Given the description of an element on the screen output the (x, y) to click on. 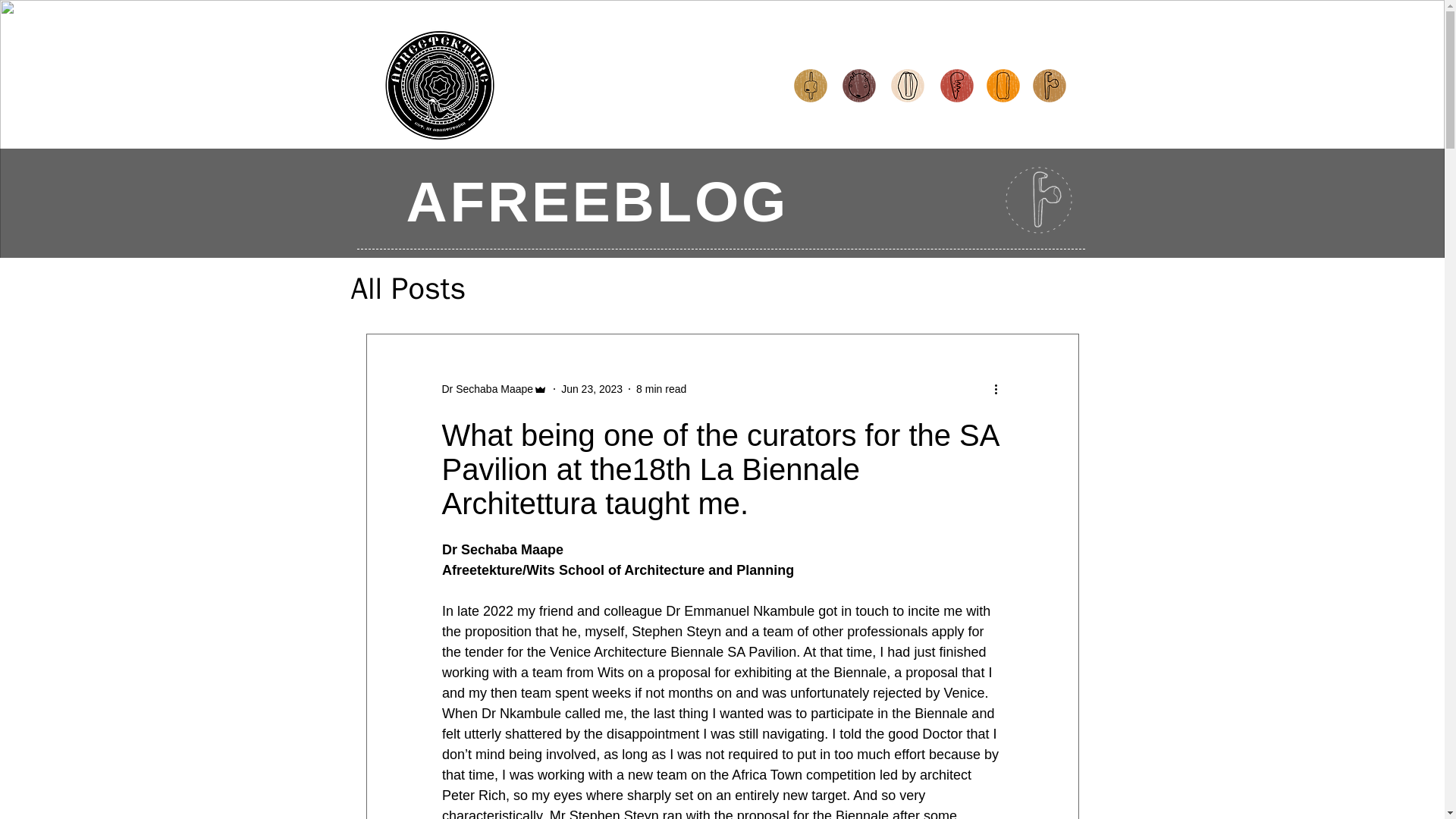
Dr Sechaba Maape (486, 388)
Research (906, 85)
Untitled-2.png (1039, 200)
All Posts (407, 287)
Blog.png (1040, 197)
Design (810, 85)
Home (438, 84)
8 min read (660, 387)
Jun 23, 2023 (591, 387)
Blog (1047, 85)
Podcasts (956, 85)
Artwork (858, 85)
About (1002, 85)
